Given the description of an element on the screen output the (x, y) to click on. 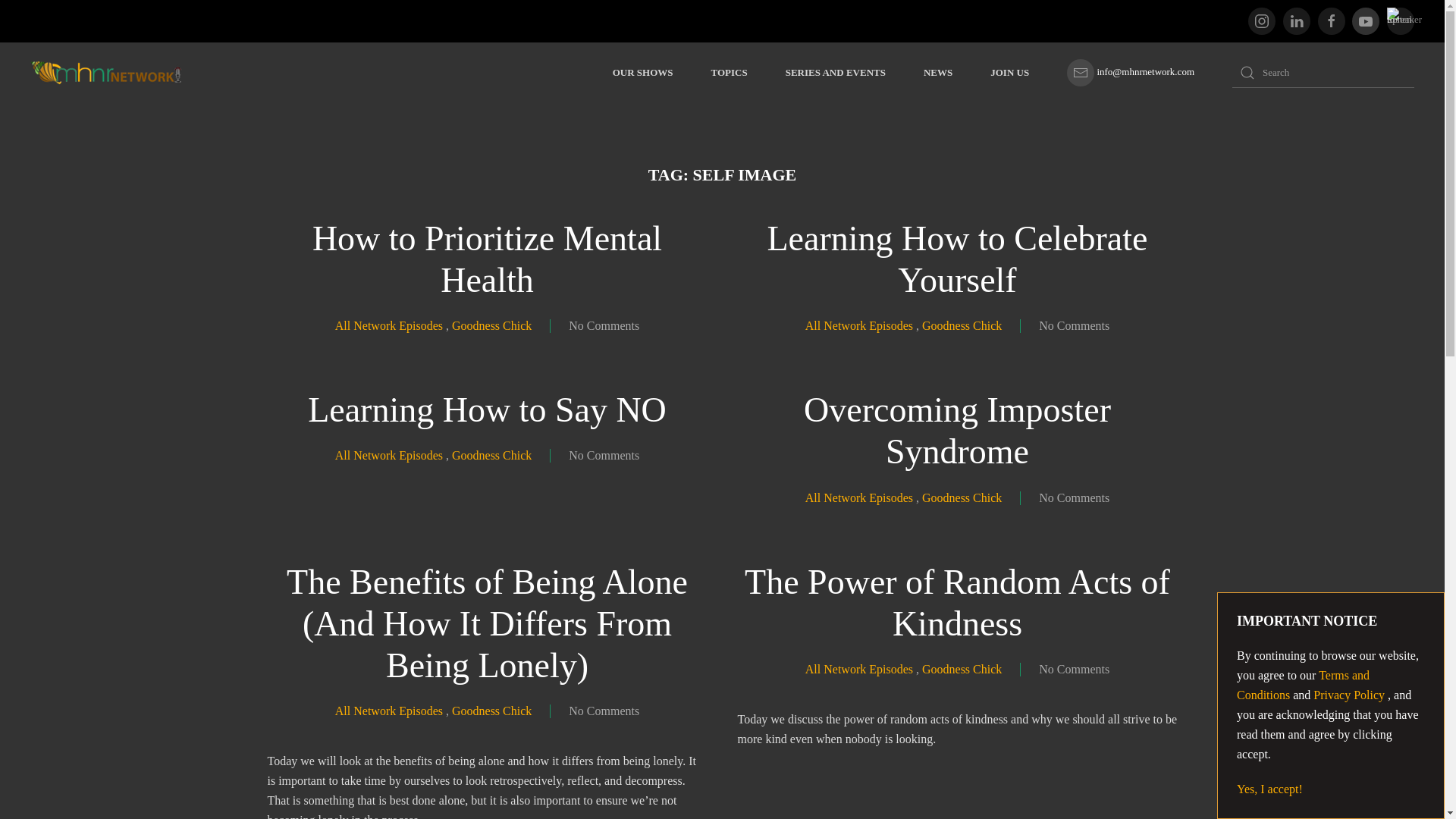
OUR SHOWS (642, 72)
Subscribe on Binge Networks (1365, 21)
